Given the description of an element on the screen output the (x, y) to click on. 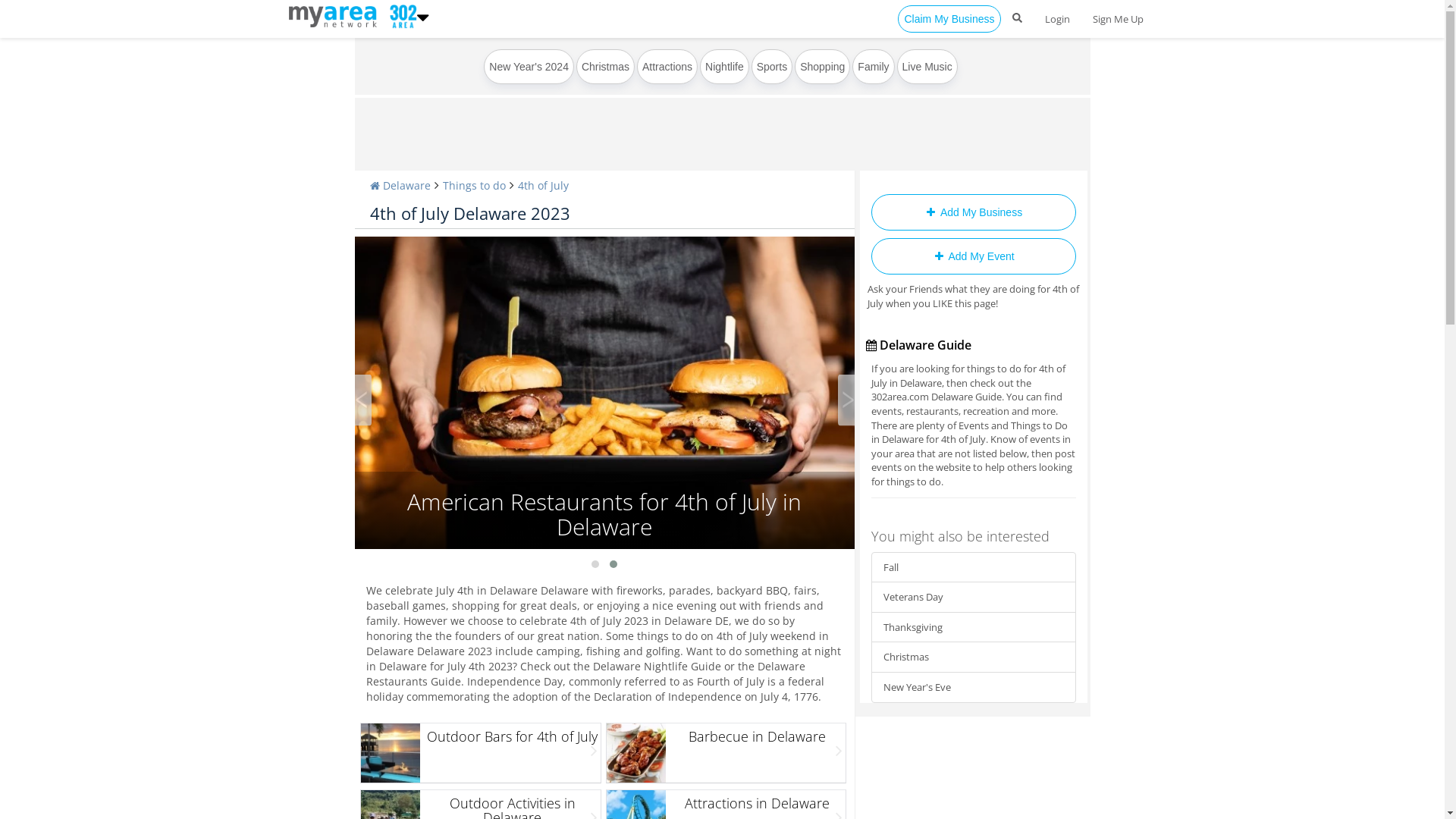
Things to do Element type: text (473, 185)
New Year's 2024 Element type: text (528, 66)
4th of July Element type: text (542, 185)
Delaware Element type: text (400, 185)
Claim My Business Element type: text (948, 18)
Barbecue in Delaware Element type: text (725, 752)
Christmas Element type: text (605, 66)
Login Element type: text (1056, 18)
Family Element type: text (873, 66)
Christmas Element type: text (972, 656)
Nightlife Element type: text (724, 66)
Fall Element type: text (972, 567)
Shopping Element type: text (822, 66)
https://www.302area.com Element type: hover (335, 15)
Sign Me Up Element type: text (1117, 18)
Add My Event Element type: text (972, 256)
Outdoor Bars for 4th of July Element type: text (480, 752)
Veterans Day Element type: text (972, 596)
Add My Business Element type: text (972, 212)
4th of July Delaware 2023 Element type: text (470, 212)
https://www.302area.com Element type: hover (400, 15)
Live Music Element type: text (927, 66)
New Year's Eve Element type: text (972, 686)
Thanksgiving Element type: text (972, 627)
Sports Element type: text (771, 66)
Outdoor Things To Do For the 4th of July Element type: text (604, 392)
Attractions Element type: text (667, 66)
